Given the description of an element on the screen output the (x, y) to click on. 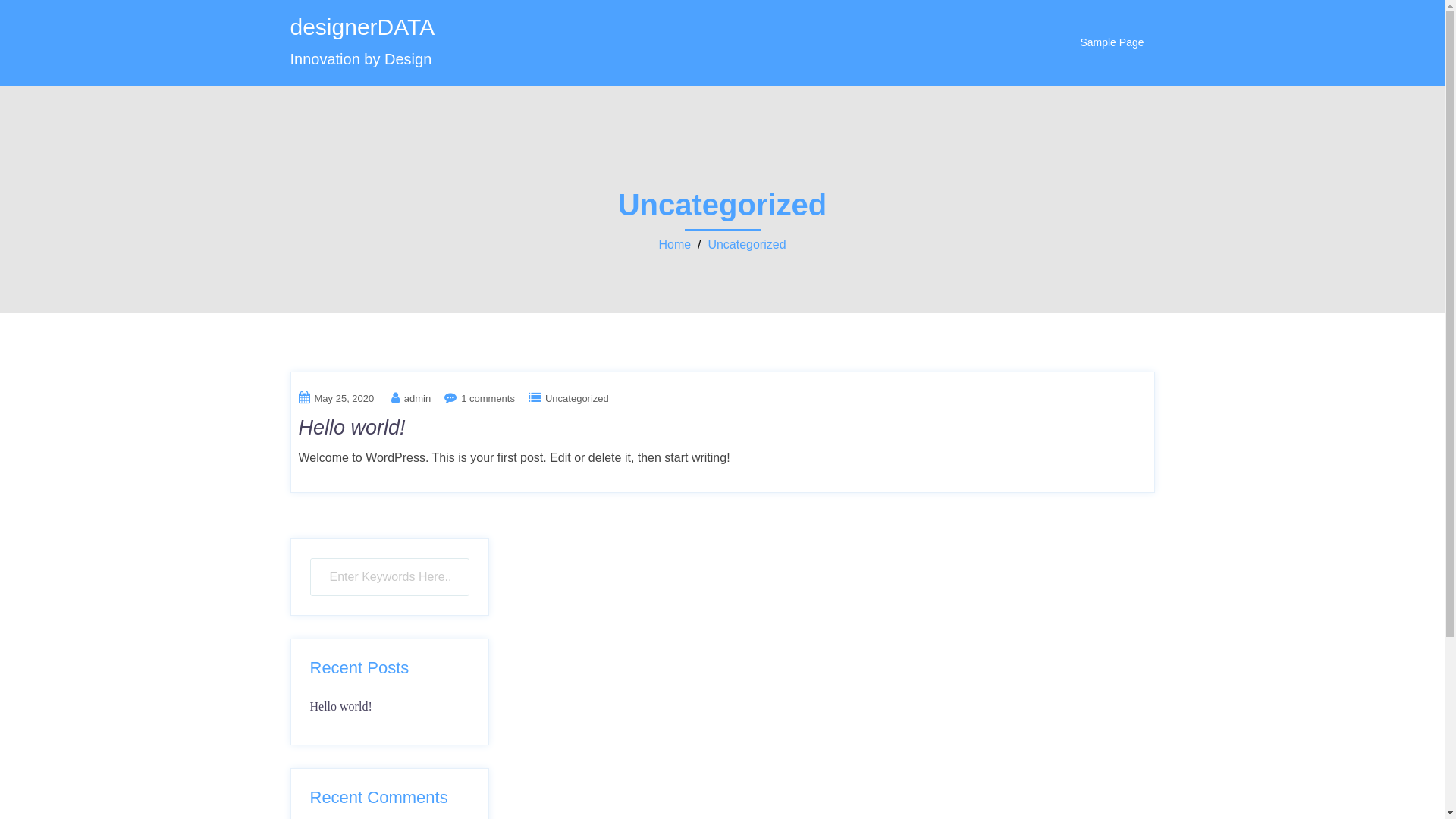
designerDATA Element type: text (361, 26)
Hello world! Element type: text (340, 705)
Home Element type: text (674, 244)
1 comments Element type: text (487, 398)
Search Element type: text (50, 18)
admin Element type: text (417, 398)
Uncategorized Element type: text (576, 398)
Hello world! Element type: text (351, 427)
Uncategorized Element type: text (746, 244)
Sample Page Element type: text (1111, 42)
May 25, 2020 Element type: text (343, 398)
